Given the description of an element on the screen output the (x, y) to click on. 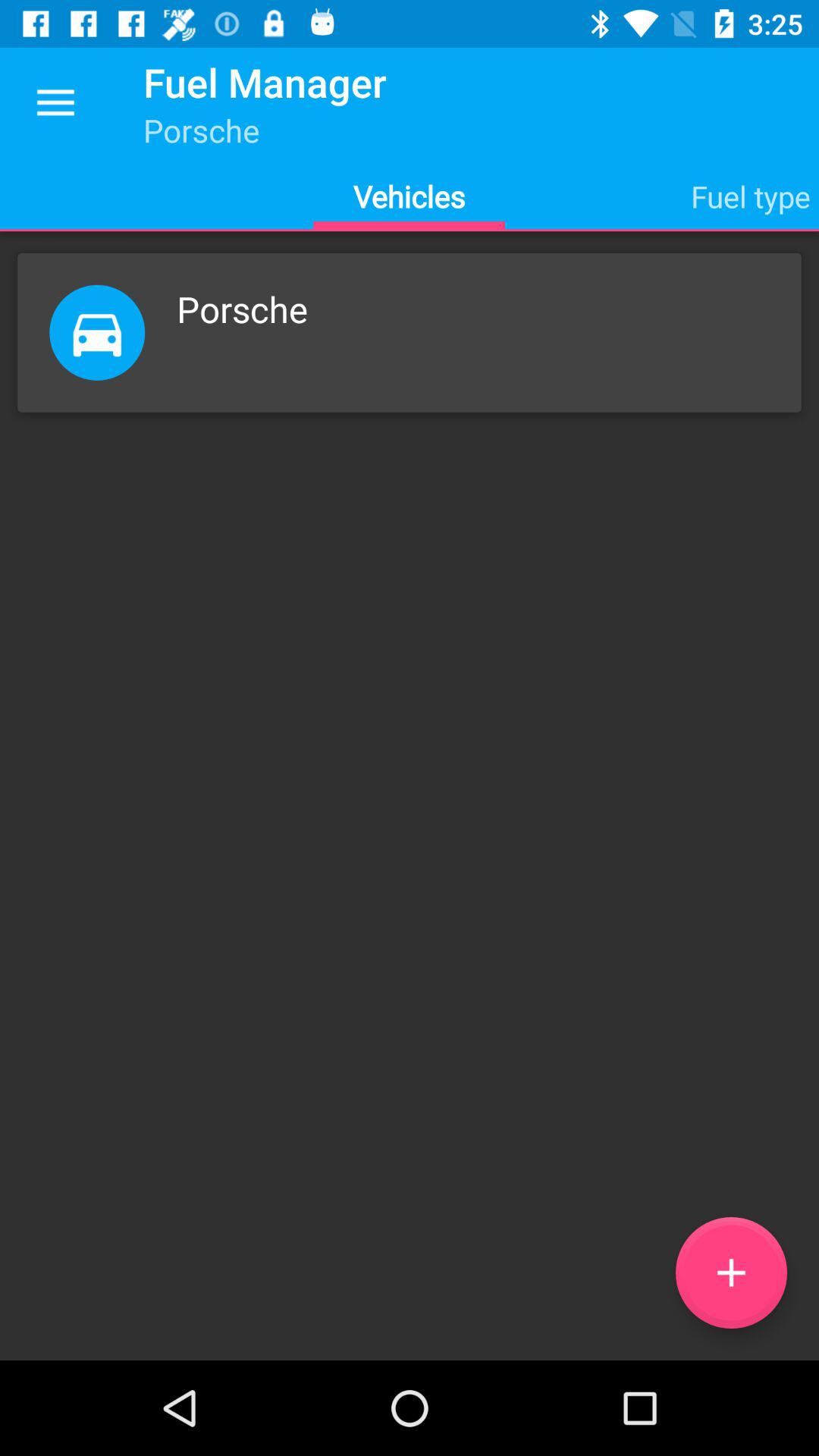
turn off the item below the porsche item (731, 1272)
